Given the description of an element on the screen output the (x, y) to click on. 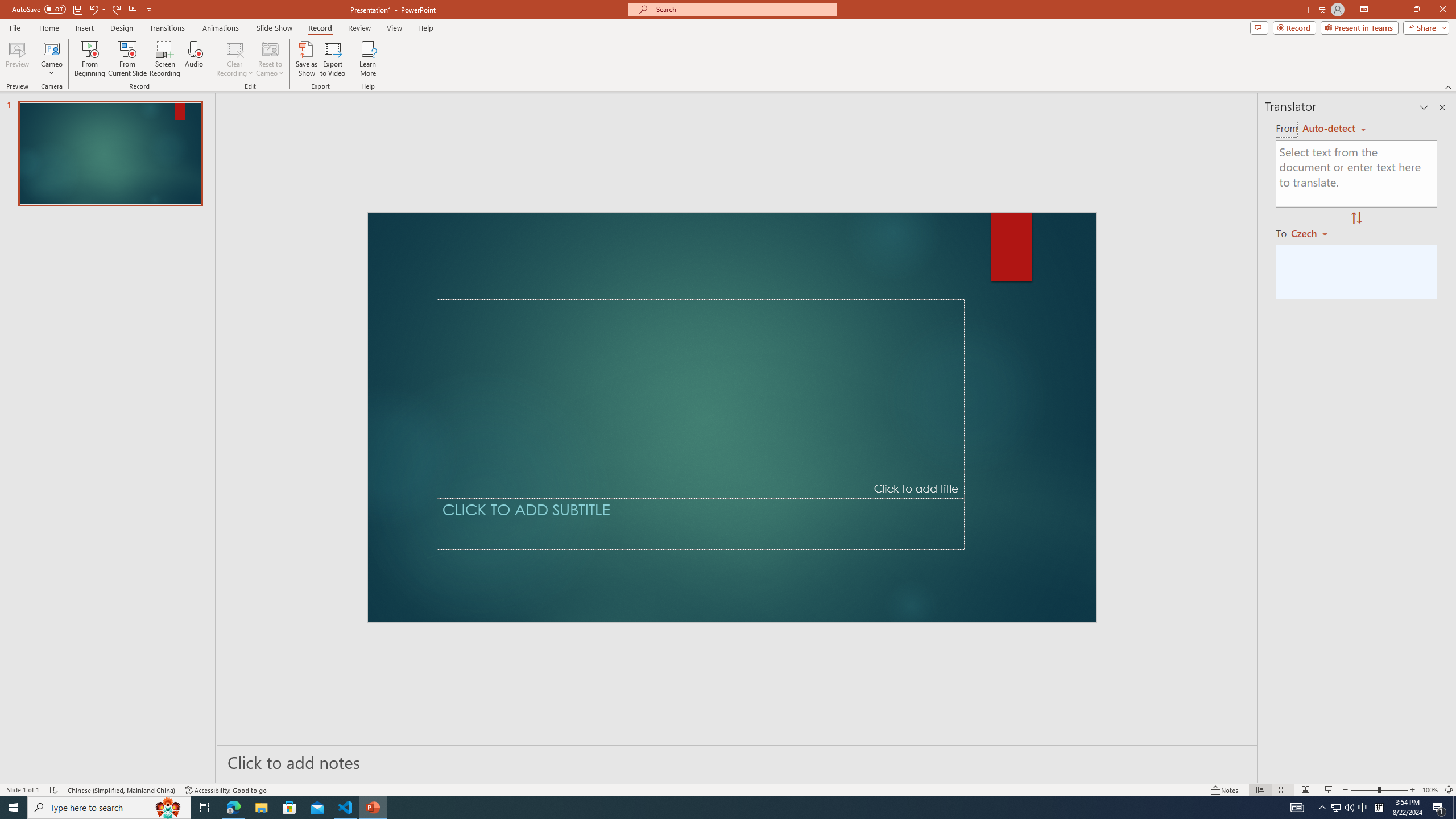
Accessibility Checker Accessibility: Good to go (226, 790)
Screen Recording (165, 58)
